Given the description of an element on the screen output the (x, y) to click on. 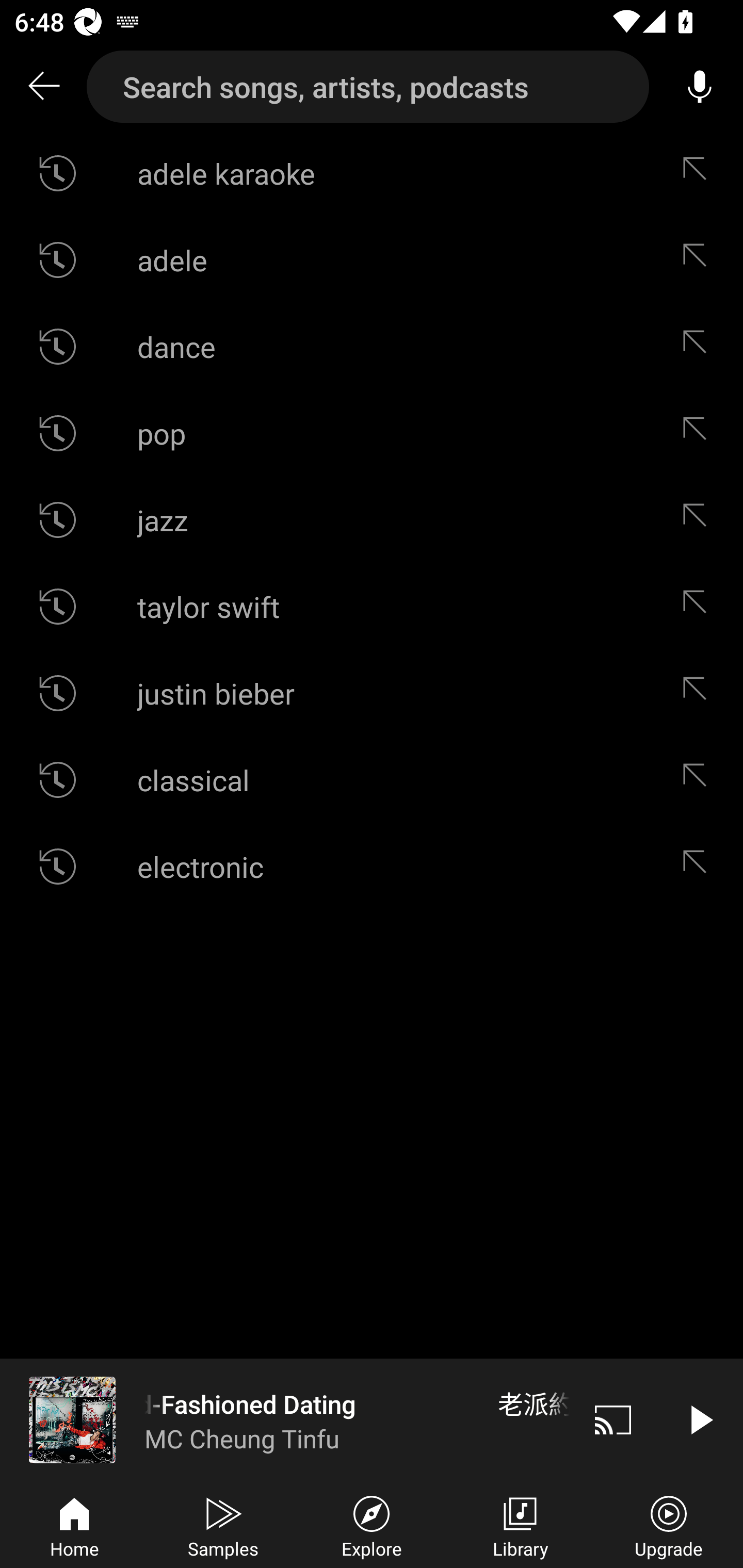
Search back (43, 86)
Search songs, artists, podcasts (367, 86)
Voice search (699, 86)
adele karaoke Edit suggestion adele karaoke (371, 173)
Edit suggestion adele karaoke (699, 173)
adele Edit suggestion adele (371, 259)
Edit suggestion adele (699, 259)
dance Edit suggestion dance (371, 346)
Edit suggestion dance (699, 346)
pop Edit suggestion pop (371, 433)
Edit suggestion pop (699, 433)
jazz Edit suggestion jazz (371, 519)
Edit suggestion jazz (699, 519)
taylor swift Edit suggestion taylor swift (371, 605)
Edit suggestion taylor swift (699, 605)
justin bieber Edit suggestion justin bieber (371, 692)
Edit suggestion justin bieber (699, 692)
classical Edit suggestion classical (371, 779)
Edit suggestion classical (699, 779)
electronic Edit suggestion electronic (371, 866)
Edit suggestion electronic (699, 866)
Cast. Disconnected (612, 1419)
Play video (699, 1419)
Home (74, 1524)
Samples (222, 1524)
Explore (371, 1524)
Library (519, 1524)
Upgrade (668, 1524)
